Given the description of an element on the screen output the (x, y) to click on. 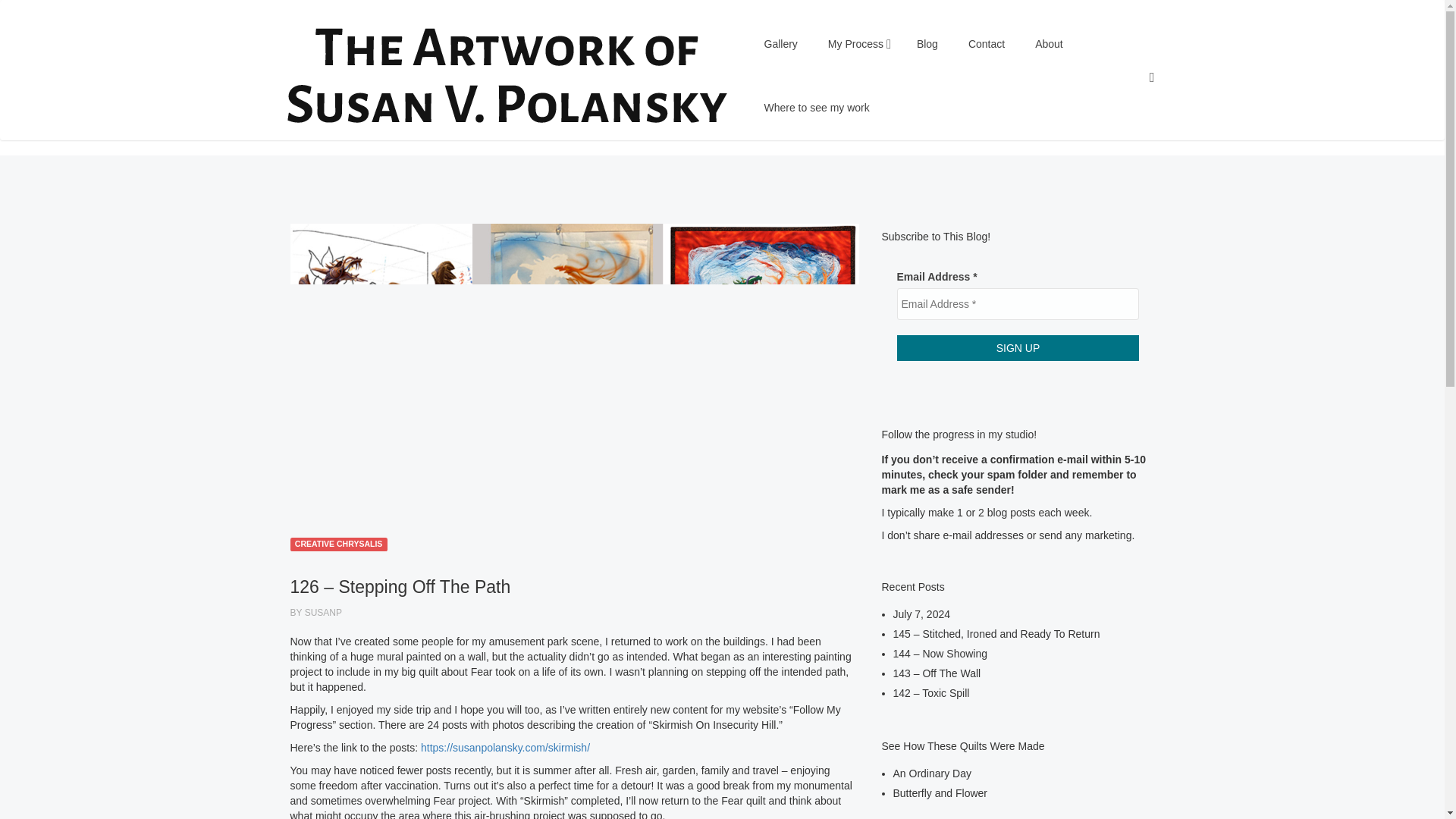
Where to see my work (816, 107)
SIGN UP (1017, 347)
July 7, 2024 (921, 613)
SUSANP (323, 612)
SIGN UP (1017, 347)
My Process (857, 44)
Posts by susanp (323, 612)
Email Address (1017, 304)
An Ordinary Day (932, 773)
CREATIVE CHRYSALIS (338, 543)
